Given the description of an element on the screen output the (x, y) to click on. 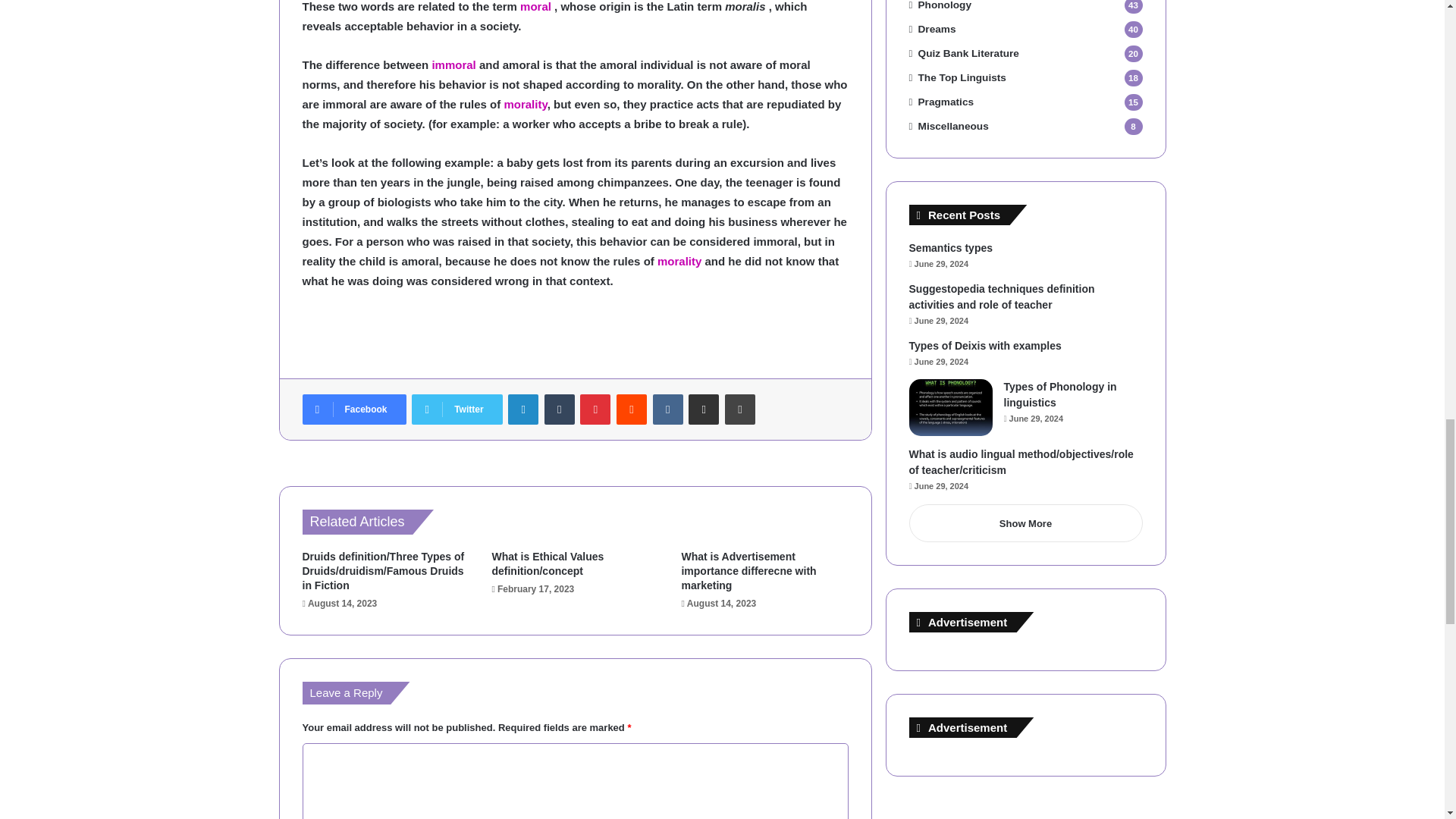
moral (535, 6)
Facebook (353, 409)
morality (679, 260)
Facebook (353, 409)
VKontakte (667, 409)
Share via Email (703, 409)
What is Advertisement importance differecne with marketing (748, 570)
Twitter (457, 409)
LinkedIn (523, 409)
immoral (453, 64)
Reddit (630, 409)
Print (740, 409)
morality (679, 260)
morality (525, 103)
Tumblr (559, 409)
